Given the description of an element on the screen output the (x, y) to click on. 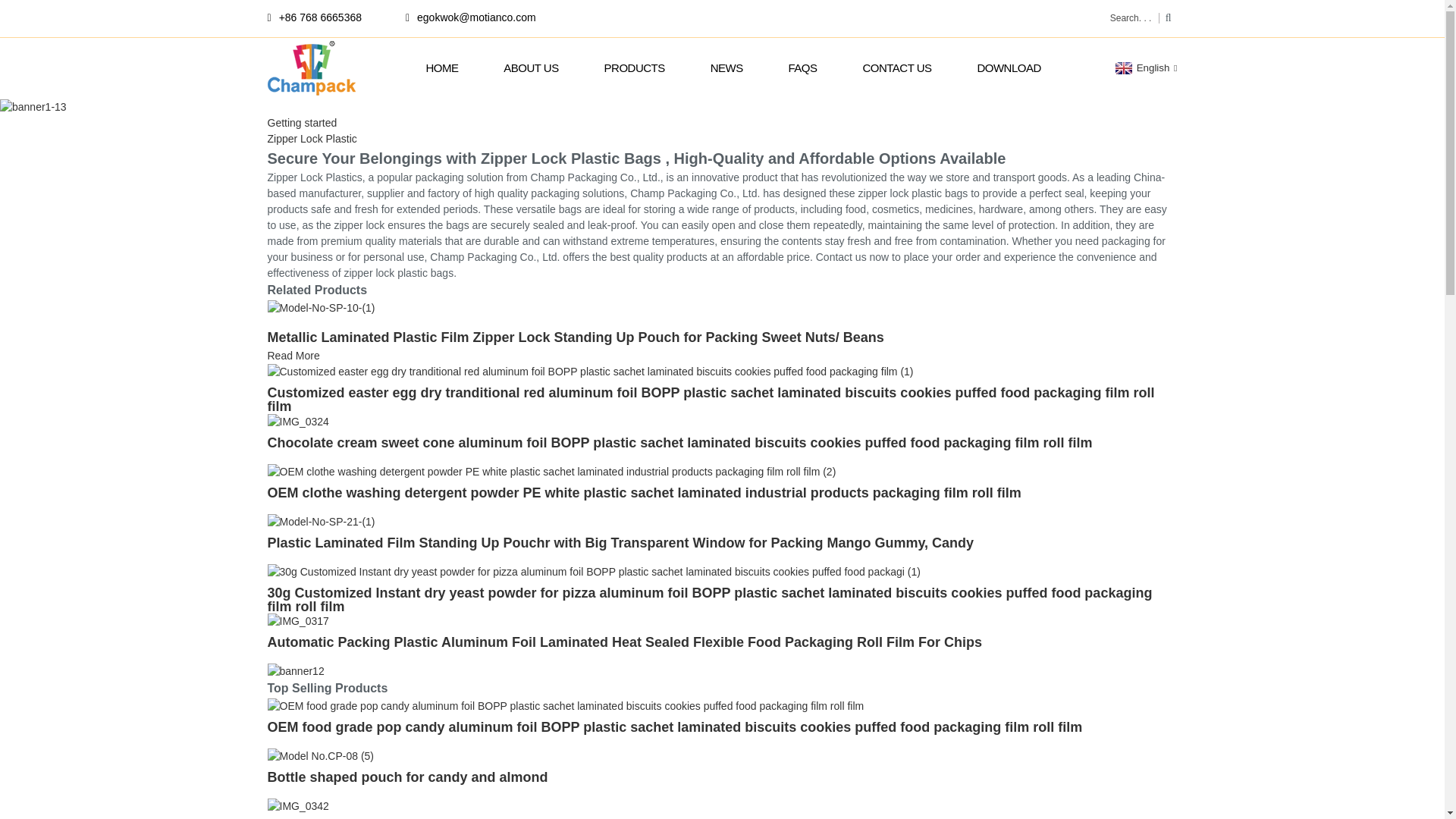
English (1144, 67)
ABOUT US (530, 67)
